Given the description of an element on the screen output the (x, y) to click on. 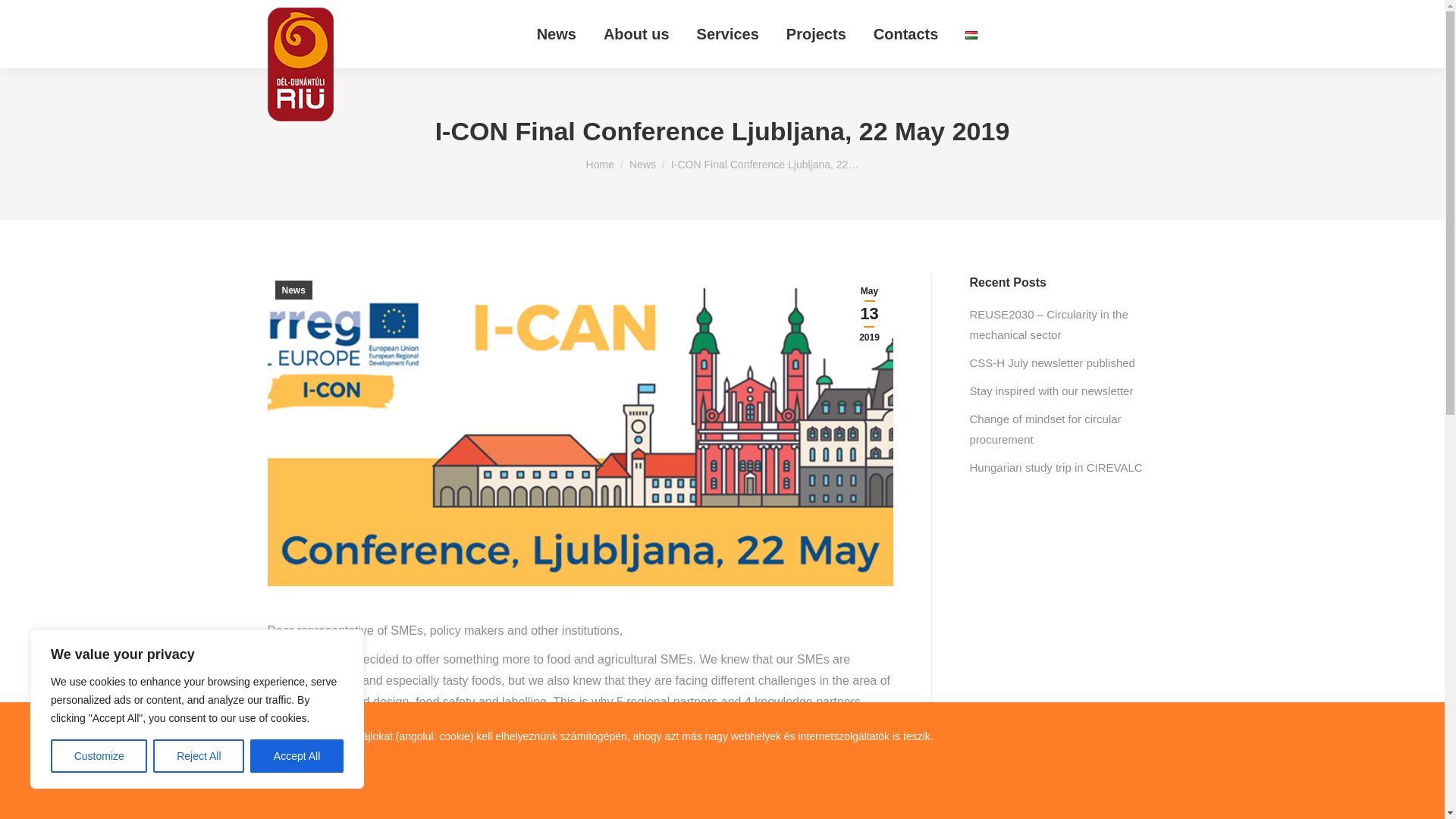
News (556, 33)
News (293, 289)
About us (635, 33)
Projects (815, 33)
Home (600, 164)
Contacts (906, 33)
Customize (98, 756)
Services (727, 33)
Reject All (198, 756)
Accept All (296, 756)
